Given the description of an element on the screen output the (x, y) to click on. 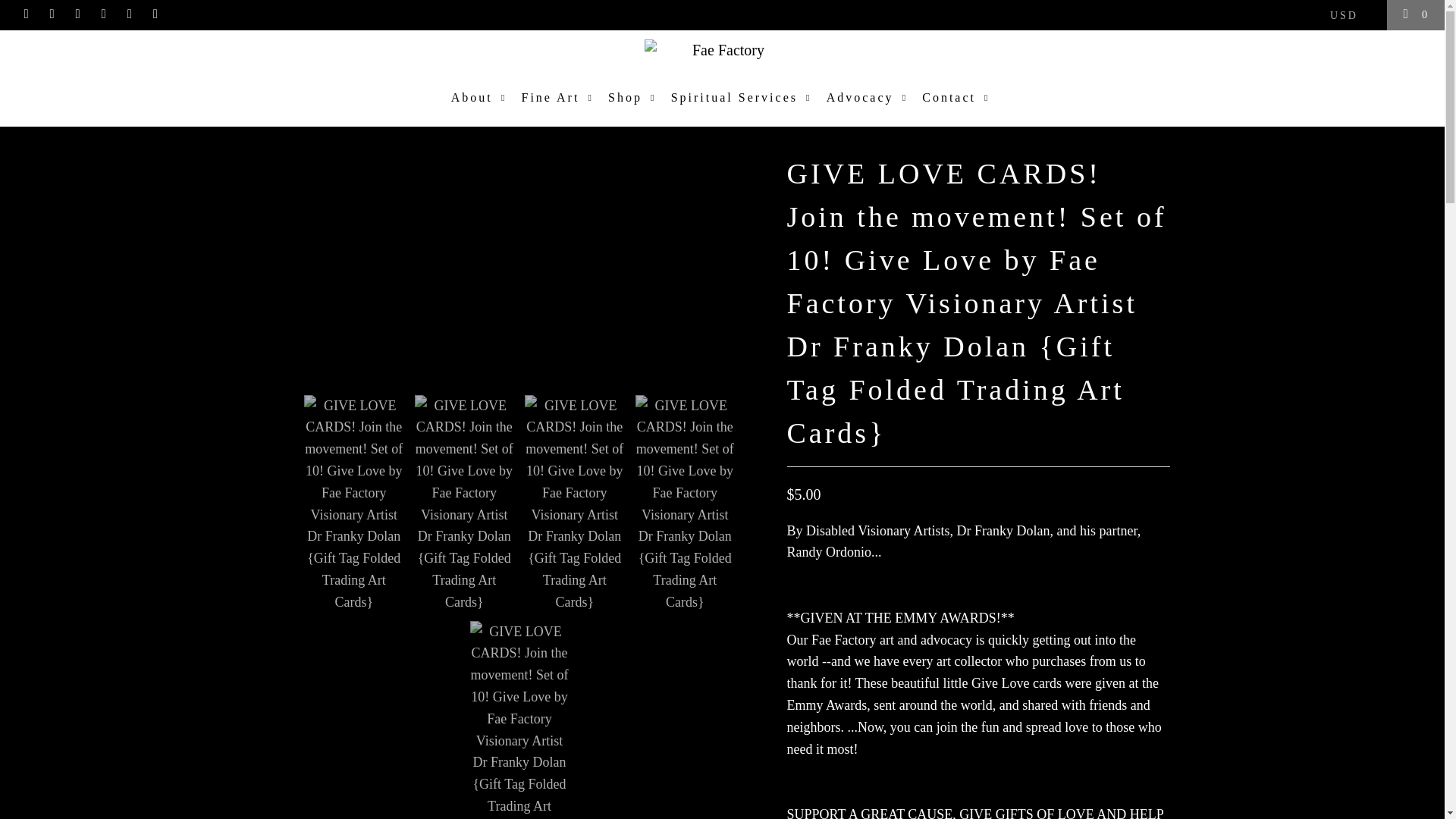
Fae Factory on YouTube (77, 14)
Fae Factory on Facebook (52, 14)
Shop (633, 97)
Fae Factory on Pinterest (104, 14)
Email Fae Factory (155, 14)
About (481, 97)
Contact (956, 97)
Fae Factory on Instagram (129, 14)
Fae Factory on Twitter (25, 14)
Advocacy (869, 97)
